Given the description of an element on the screen output the (x, y) to click on. 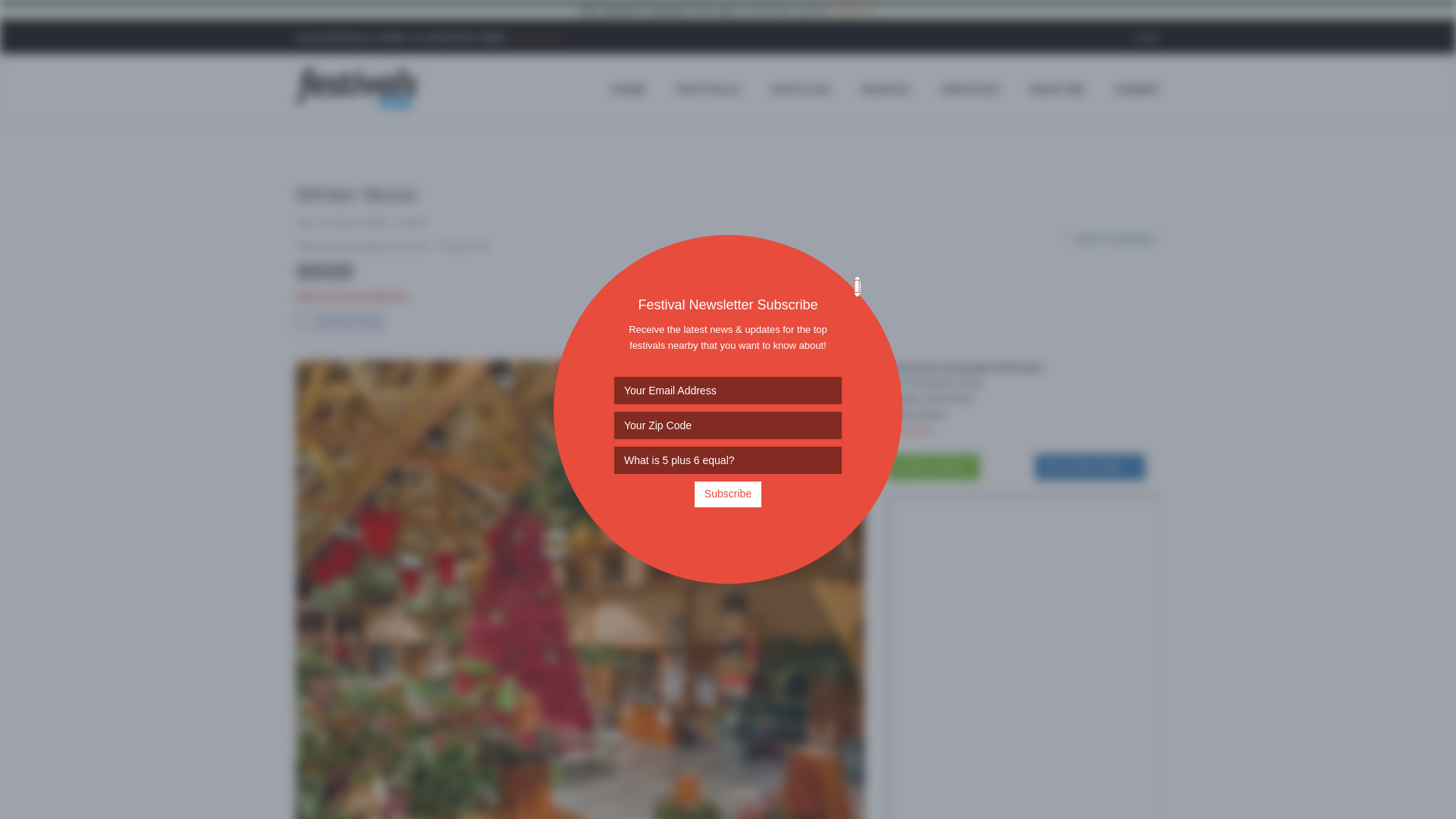
contact us (850, 10)
SEARCH (884, 89)
ARTICLES (800, 89)
LOGIN (1146, 38)
Minnesota Landscape Arboretum (363, 245)
HOME (628, 89)
FESTIVALS (708, 89)
